Given the description of an element on the screen output the (x, y) to click on. 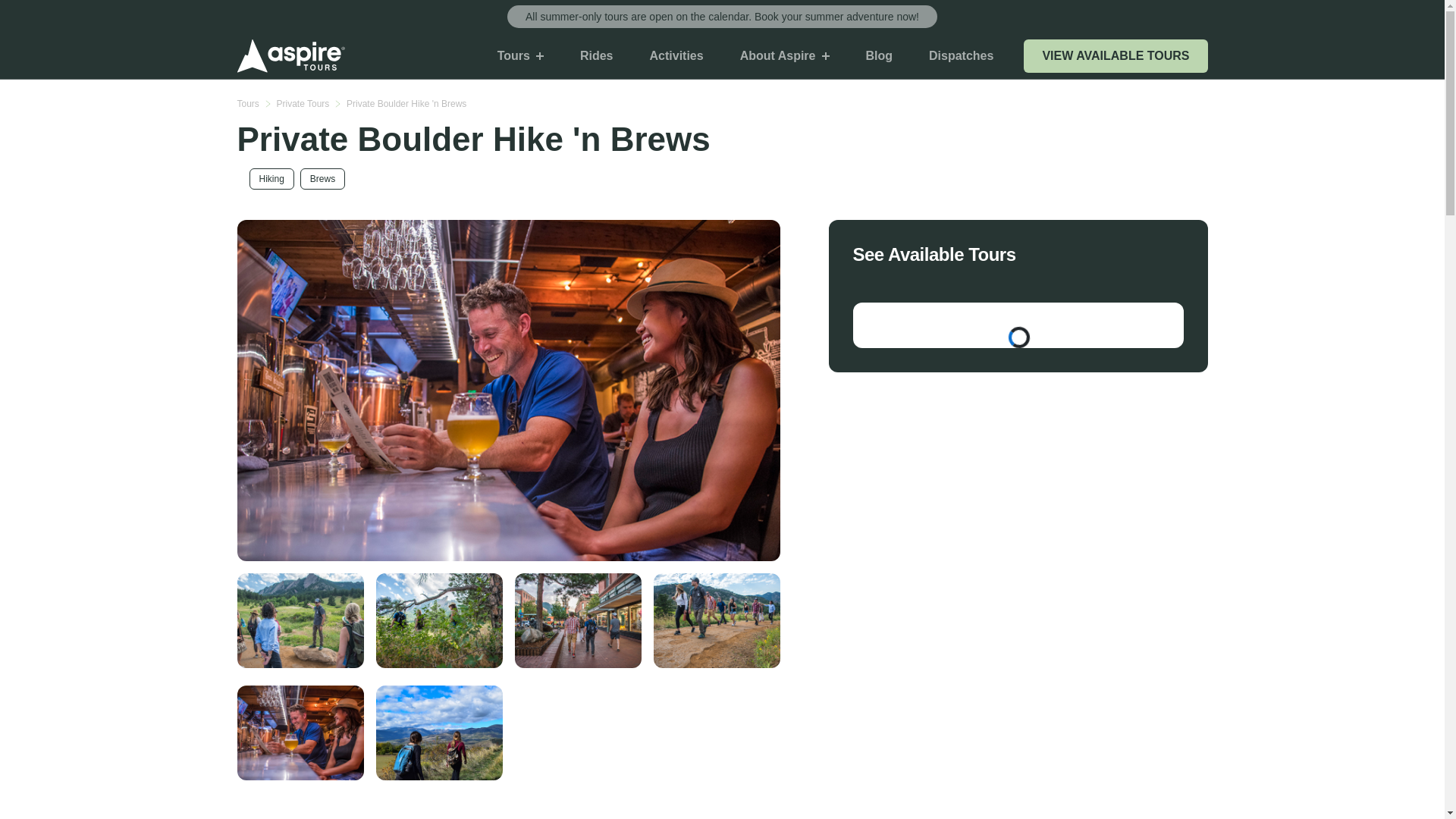
Private Tours (302, 103)
Hiking (271, 178)
Activities (675, 55)
VIEW AVAILABLE TOURS (1115, 55)
Brews (322, 178)
Tours (247, 103)
Dispatches (961, 55)
Blog (879, 55)
FareHarbor (1016, 325)
Rides (596, 55)
